Given the description of an element on the screen output the (x, y) to click on. 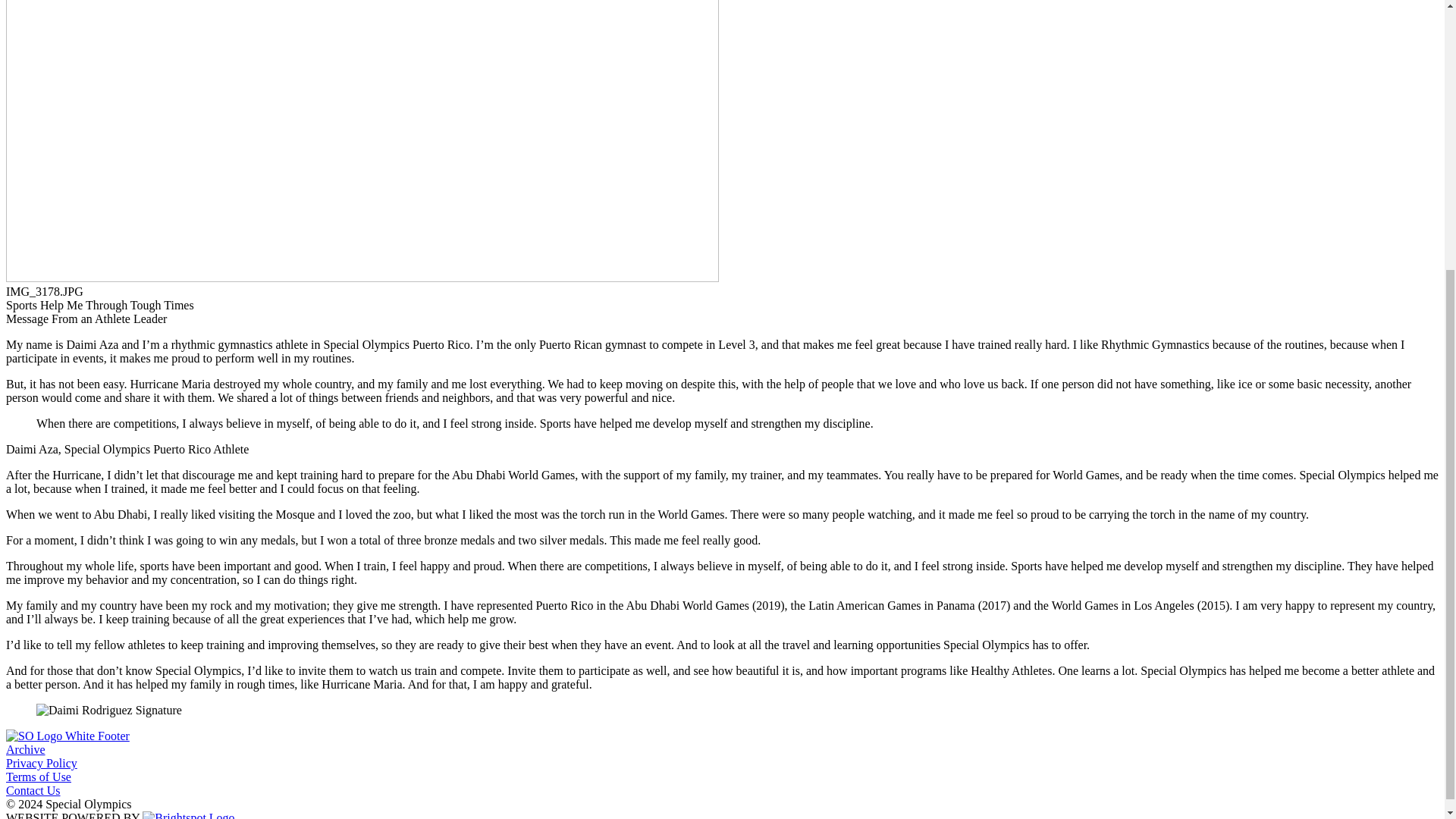
Contact Us (33, 789)
Terms of Use (38, 776)
Archive (25, 748)
Privacy Policy (41, 762)
